Given the description of an element on the screen output the (x, y) to click on. 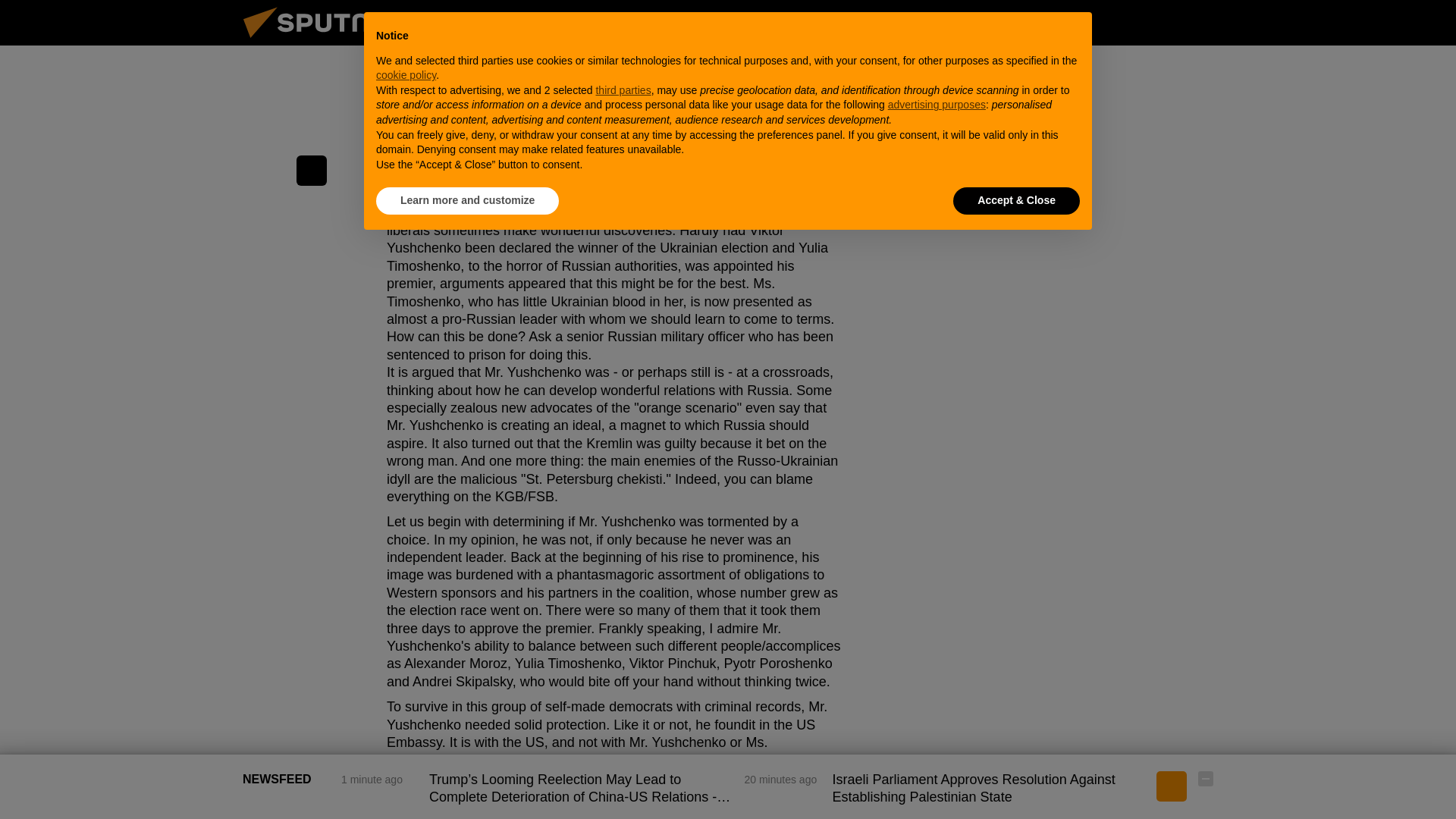
Chats (1206, 22)
Sputnik International (325, 41)
Authorization (1129, 22)
